Given the description of an element on the screen output the (x, y) to click on. 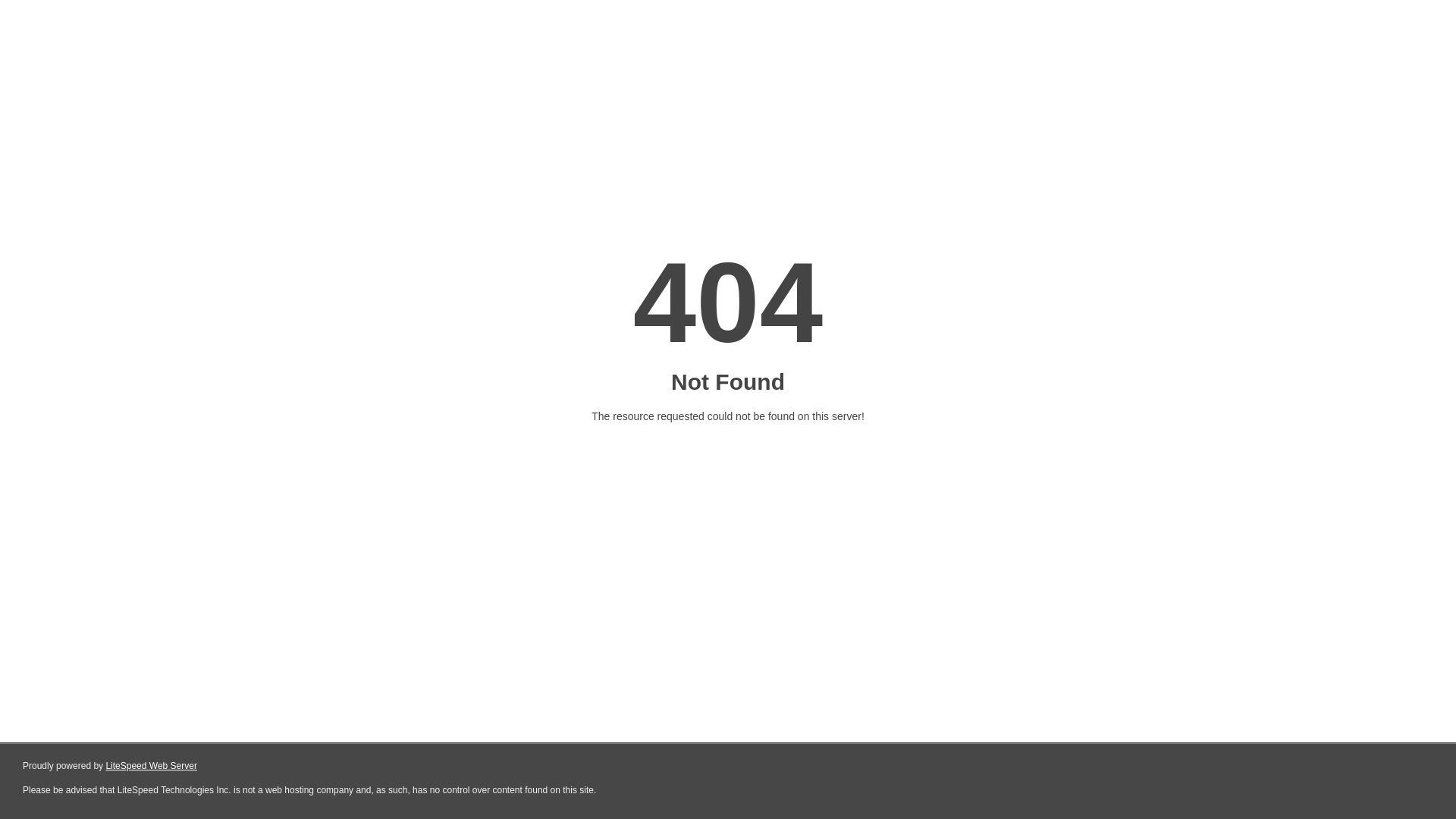
LiteSpeed Web Server Element type: text (151, 765)
